Given the description of an element on the screen output the (x, y) to click on. 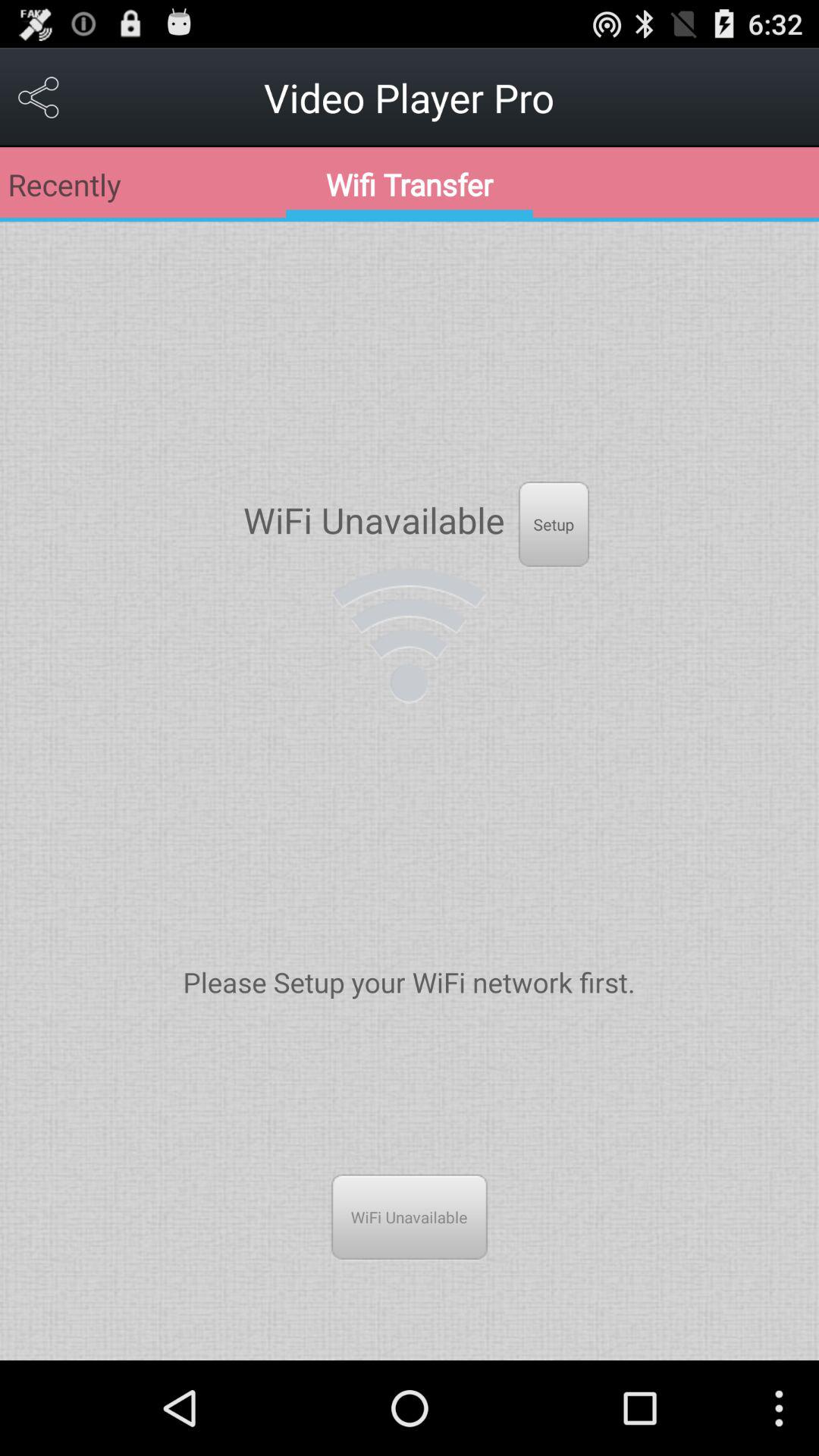
choose the icon above please setup your app (409, 635)
